Given the description of an element on the screen output the (x, y) to click on. 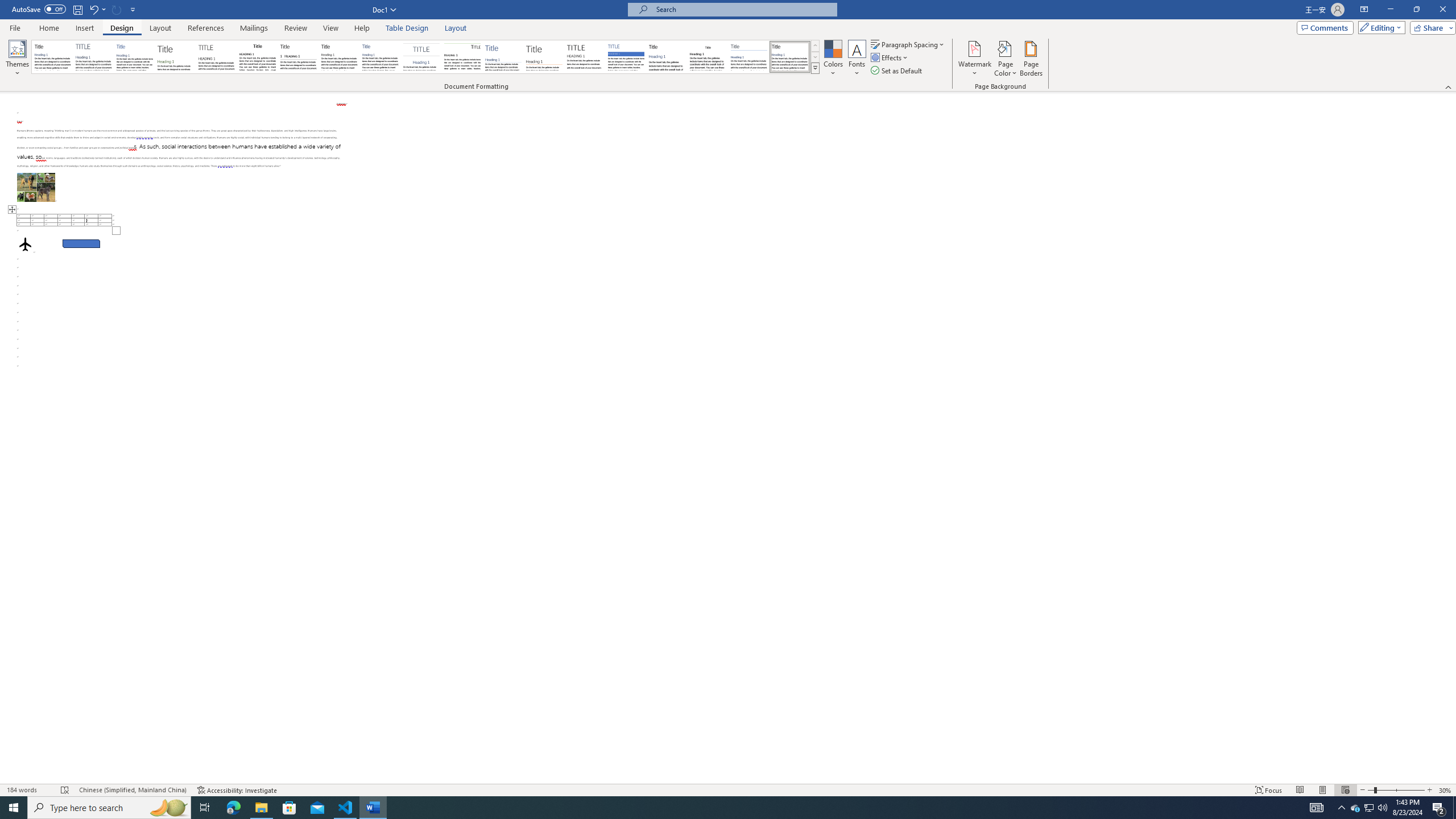
Black & White (Capitalized) (216, 56)
Black & White (Numbered) (298, 56)
Airplane with solid fill (25, 243)
Word 2010 (749, 56)
Zoom 30% (1445, 790)
